Given the description of an element on the screen output the (x, y) to click on. 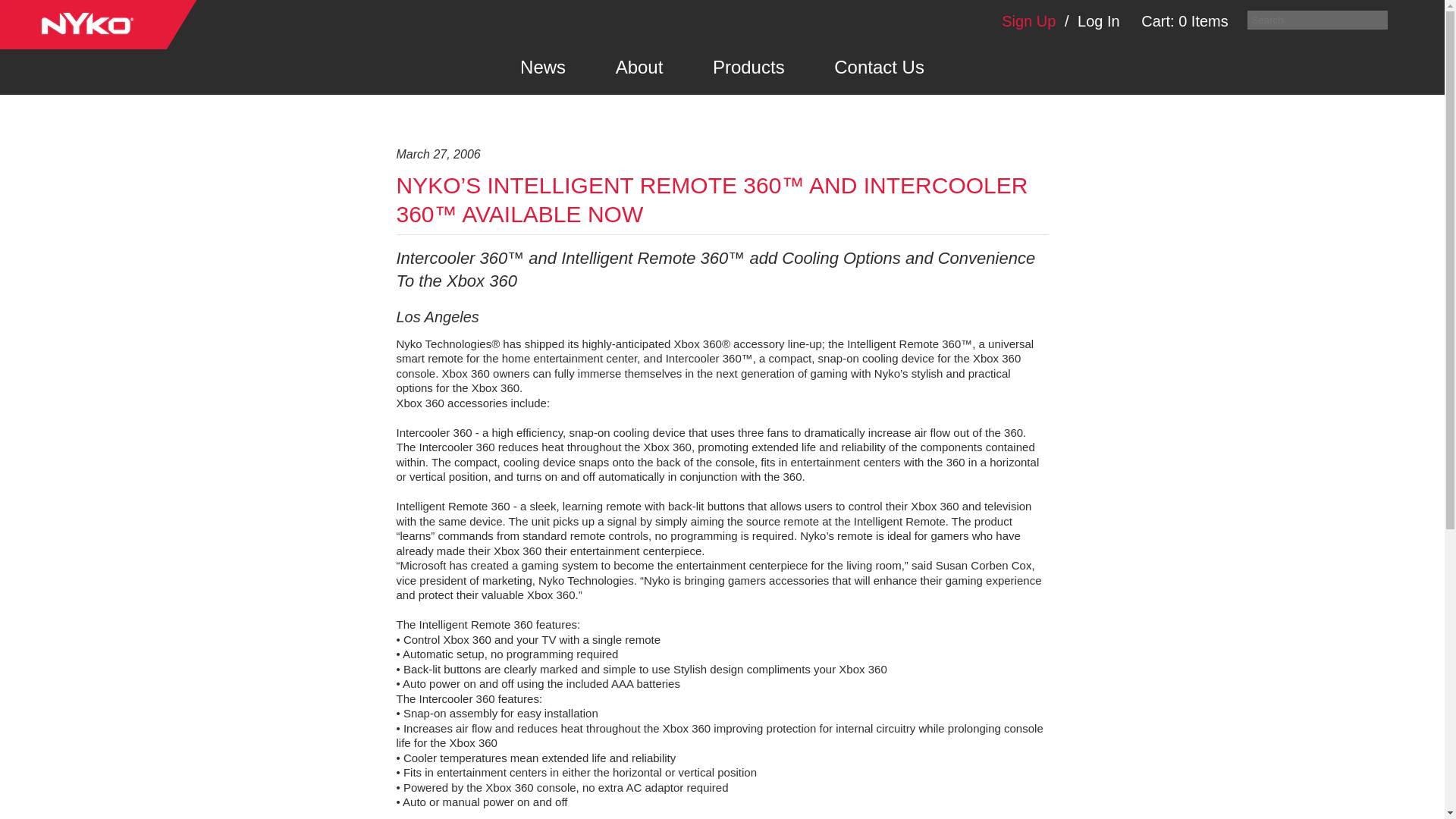
About (638, 67)
News (542, 67)
Cart: 0 Items (1184, 14)
Sign Up (1028, 21)
Products (749, 67)
Nyko (98, 24)
Contact Us (878, 67)
Cart (1184, 14)
Log In (1098, 21)
